Given the description of an element on the screen output the (x, y) to click on. 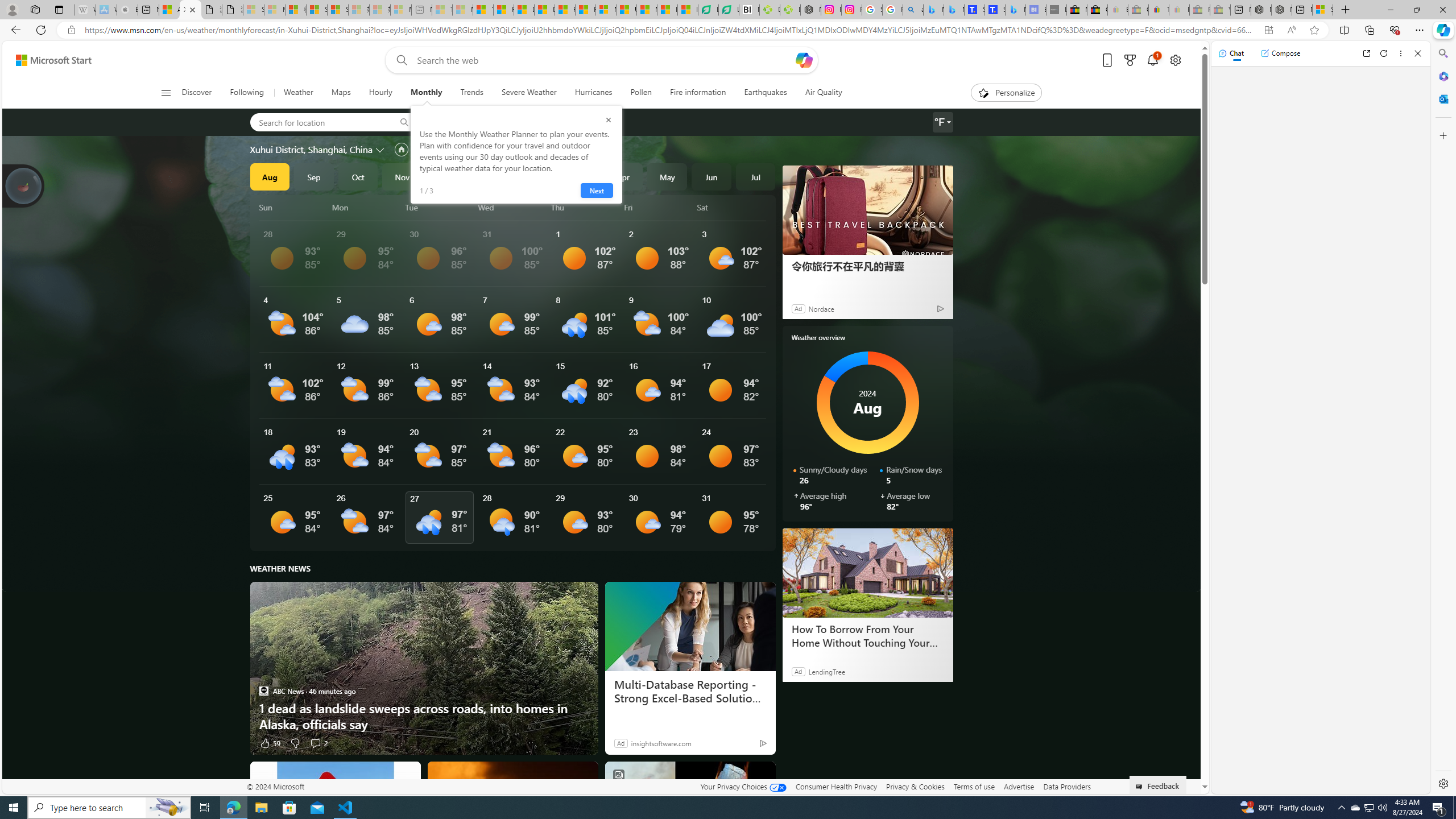
Press Room - eBay Inc. - Sleeping (1199, 9)
Next (595, 190)
Nov (401, 176)
Nordace - Nordace Edin Collection (809, 9)
Drinking tea every day is proven to delay biological aging (544, 9)
Yard, Garden & Outdoor Living - Sleeping (1219, 9)
Foo BAR | Trusted Community Engagement and Contributions (584, 9)
ABC News (263, 690)
2025 Jan (490, 176)
